Given the description of an element on the screen output the (x, y) to click on. 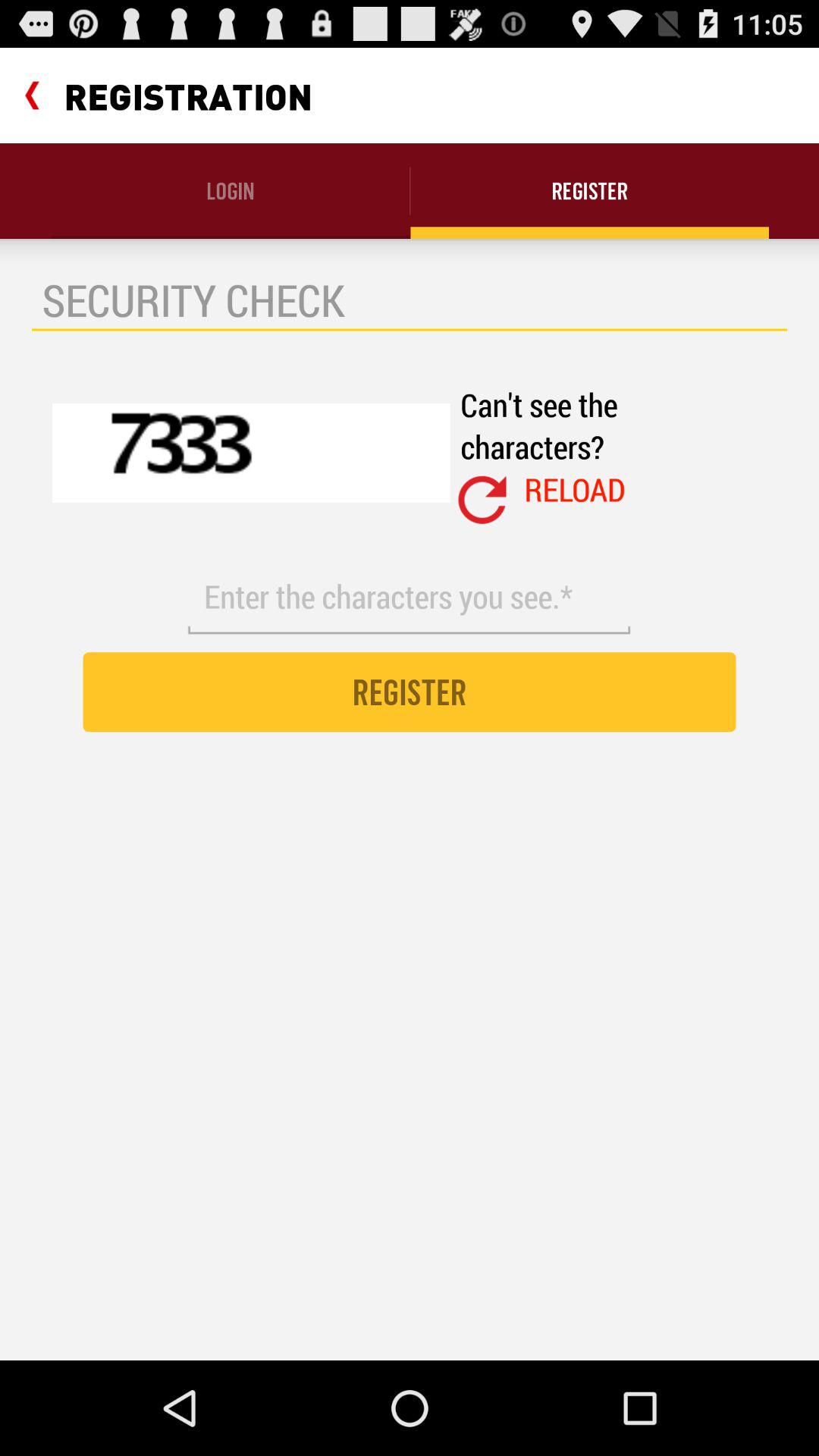
tap item on the right (574, 489)
